Given the description of an element on the screen output the (x, y) to click on. 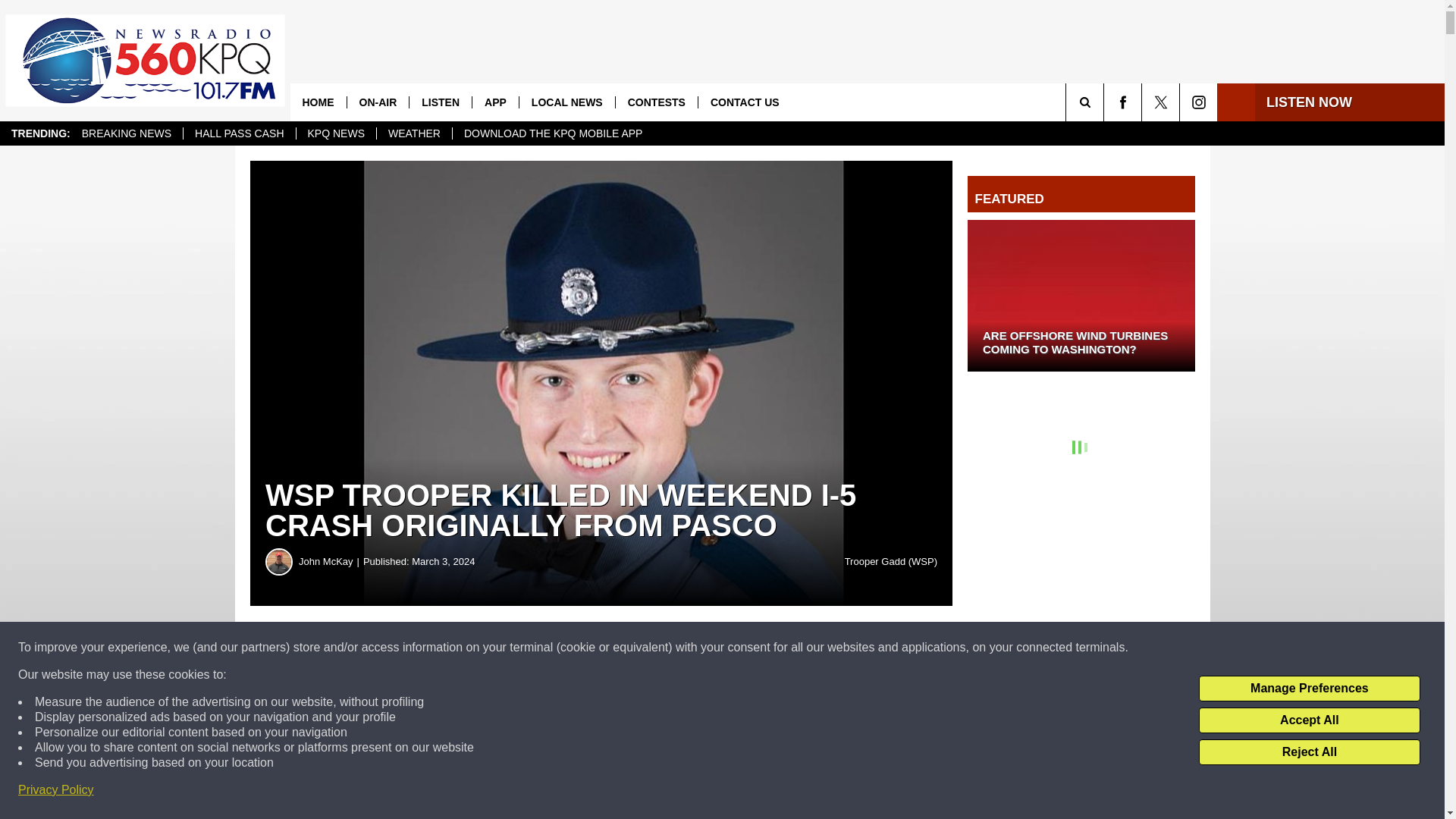
Manage Preferences (1309, 688)
Privacy Policy (55, 789)
SEARCH (1106, 102)
SEARCH (1106, 102)
CONTACT US (744, 102)
DOWNLOAD THE KPQ MOBILE APP (552, 133)
LOCAL NEWS (566, 102)
Share on Twitter (741, 647)
CONTESTS (655, 102)
HOME (317, 102)
Reject All (1309, 751)
KPQ NEWS (335, 133)
Share on Facebook (460, 647)
ON-AIR (377, 102)
BREAKING NEWS (126, 133)
